Given the description of an element on the screen output the (x, y) to click on. 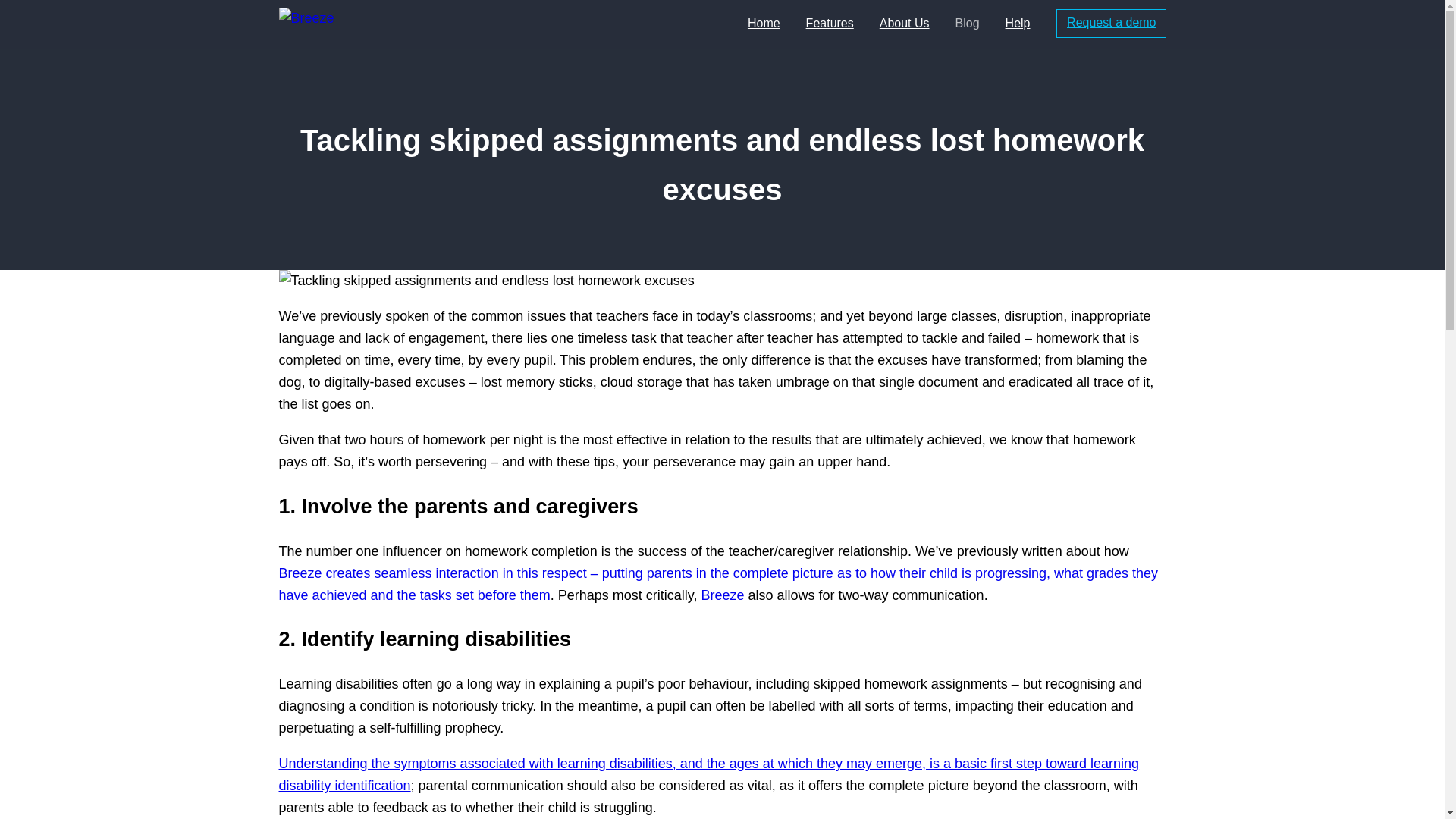
Request a demo (1110, 23)
Blog (967, 23)
Features (829, 23)
About Us (904, 23)
Home (764, 23)
Breeze (722, 595)
Help (1018, 23)
